Given the description of an element on the screen output the (x, y) to click on. 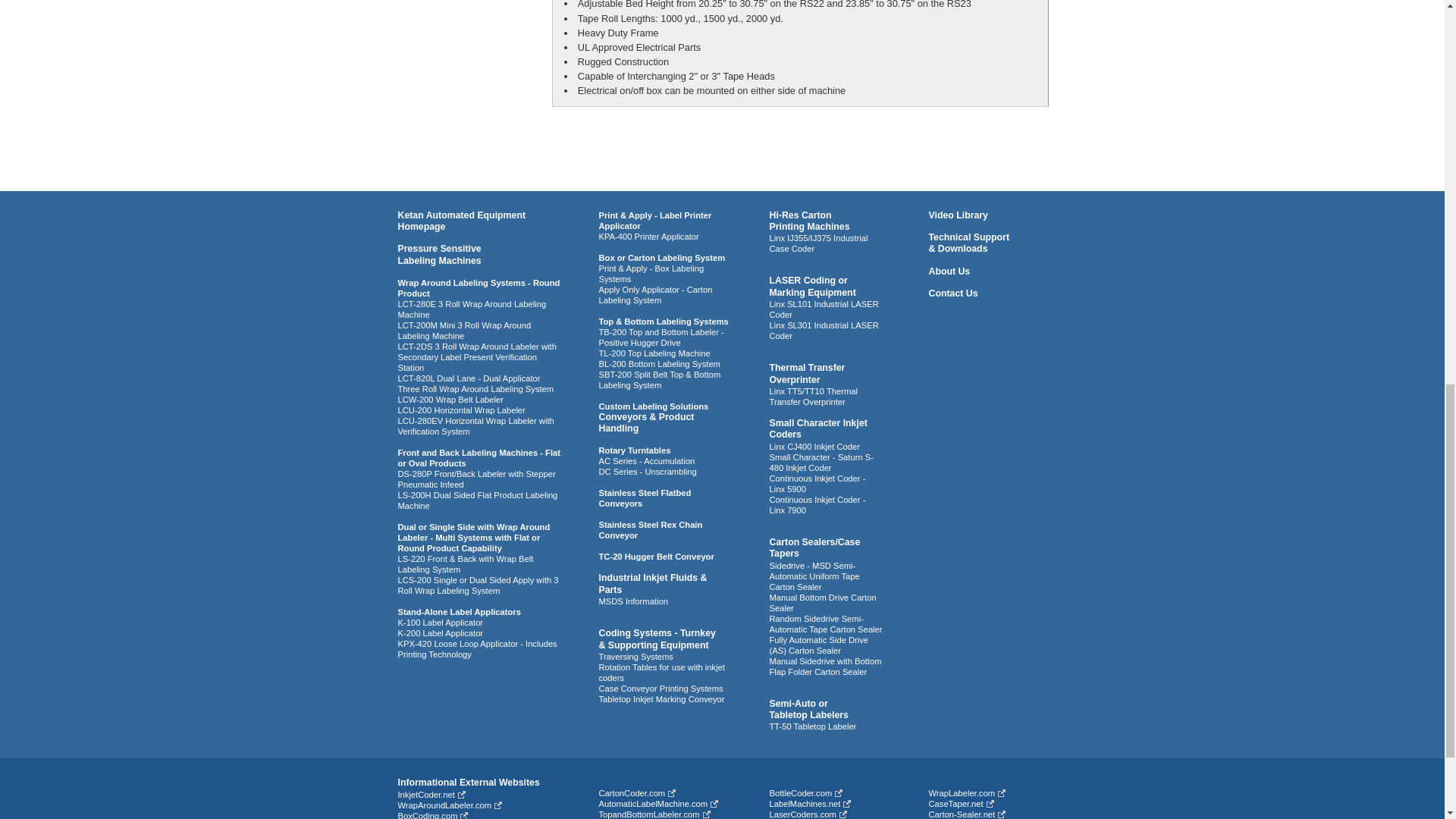
LCU-280EV Horizontal Wrap Labeler with Verification System (475, 425)
LCU-200 Horizontal Wrap Labeler (438, 254)
Ketan Automated Equipment Homepage (460, 409)
Wrap Around Labeling Systems - Round Product (461, 220)
LCT-200M Mini 3 Roll Wrap Around Labeling Machine (478, 288)
LCW-200 Wrap Belt Labeler (464, 330)
LCT-280E 3 Roll Wrap Around Labeling Machine (450, 399)
